Given the description of an element on the screen output the (x, y) to click on. 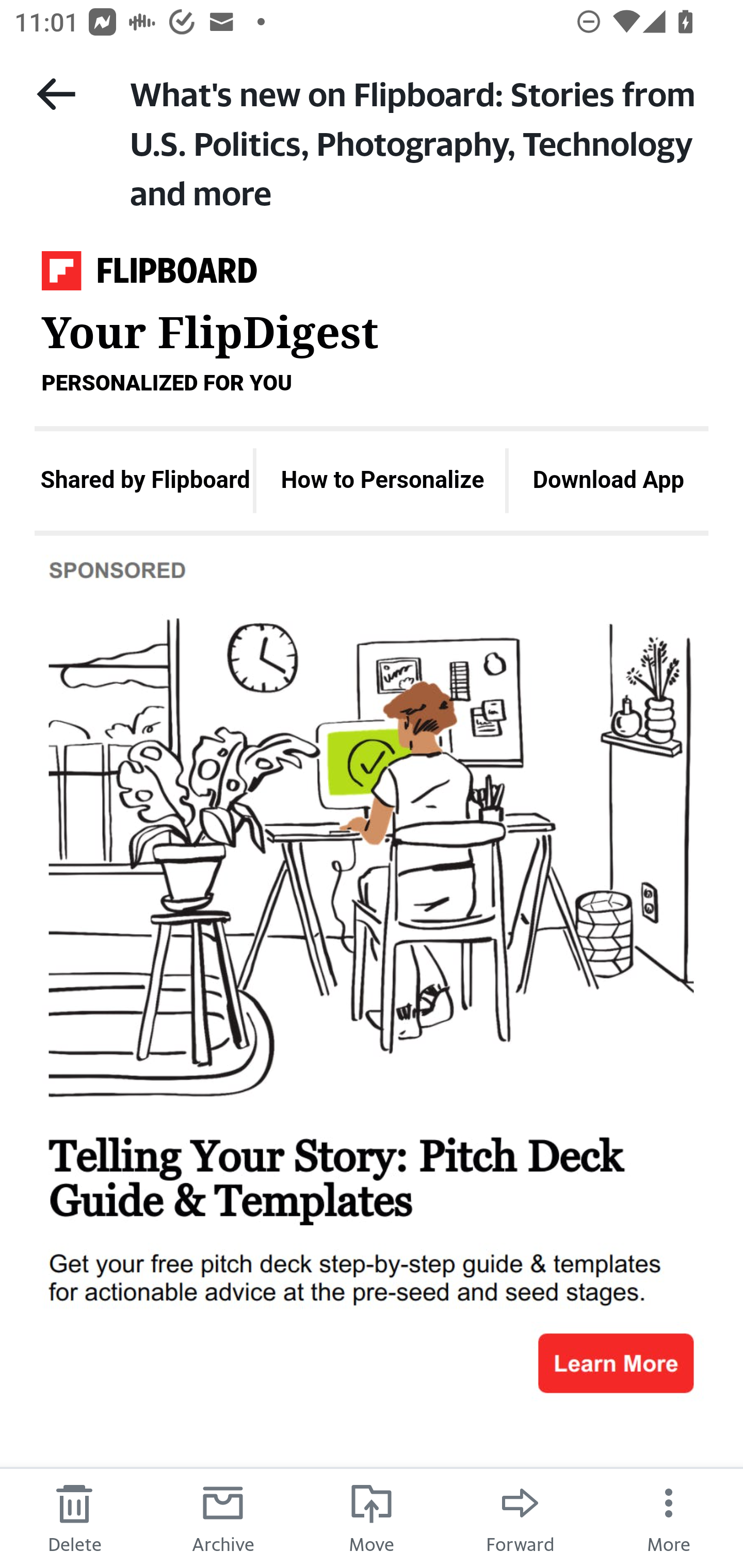
Back (55, 93)
Your FlipDigest (149, 275)
Shared by Flipboard (144, 479)
How to Personalize (381, 479)
Download App (608, 479)
Delete (74, 1517)
Archive (222, 1517)
Move (371, 1517)
Forward (519, 1517)
More (668, 1517)
